Given the description of an element on the screen output the (x, y) to click on. 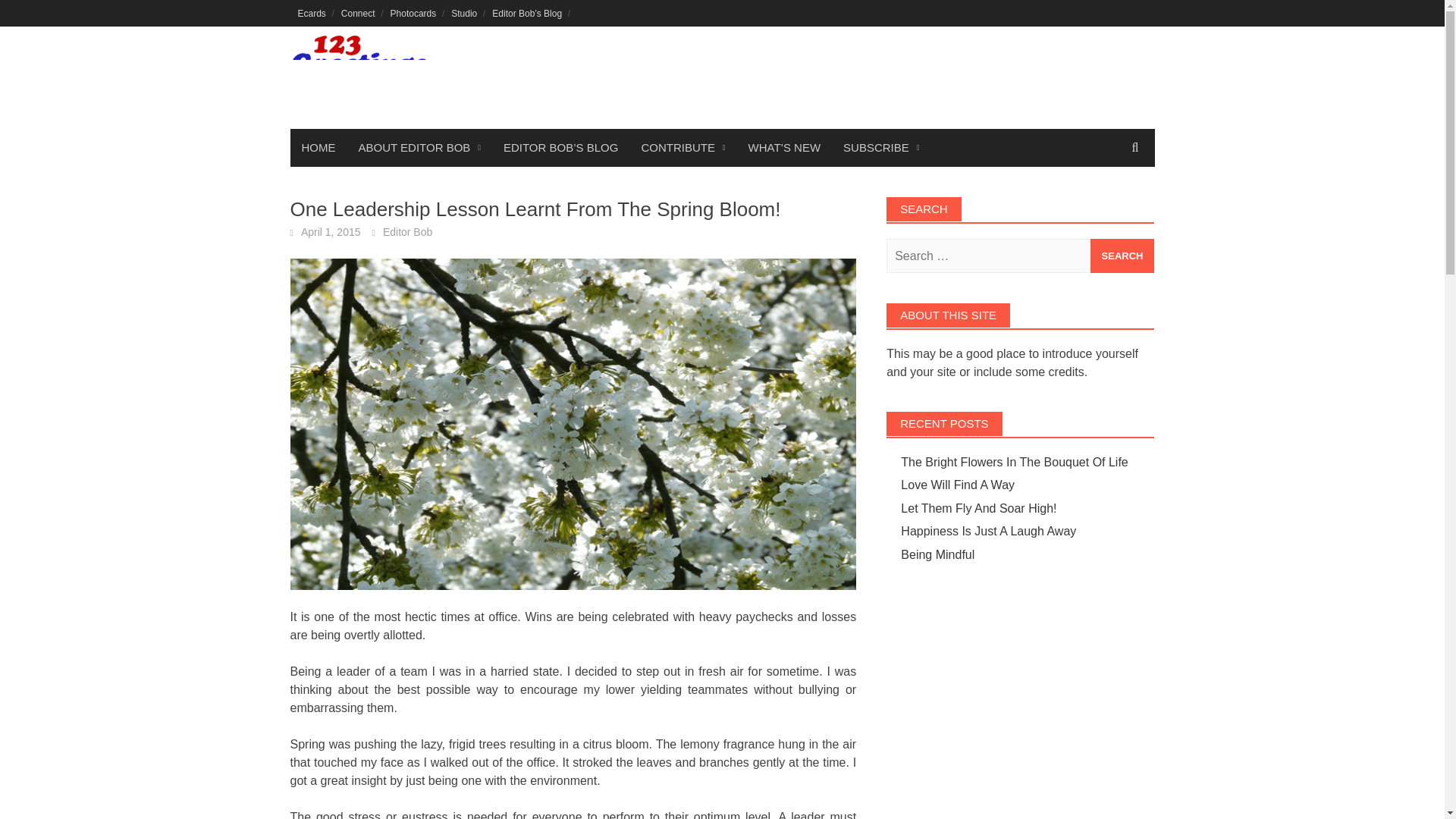
Photocards (413, 13)
ABOUT EDITOR BOB (419, 147)
CONTRIBUTE (682, 147)
April 1, 2015 (331, 232)
HOME (317, 147)
Studio (464, 13)
Connect (357, 13)
Ecards (311, 13)
SUBSCRIBE (880, 147)
Search (1122, 255)
Search (1122, 255)
Editor Bob (407, 232)
